Given the description of an element on the screen output the (x, y) to click on. 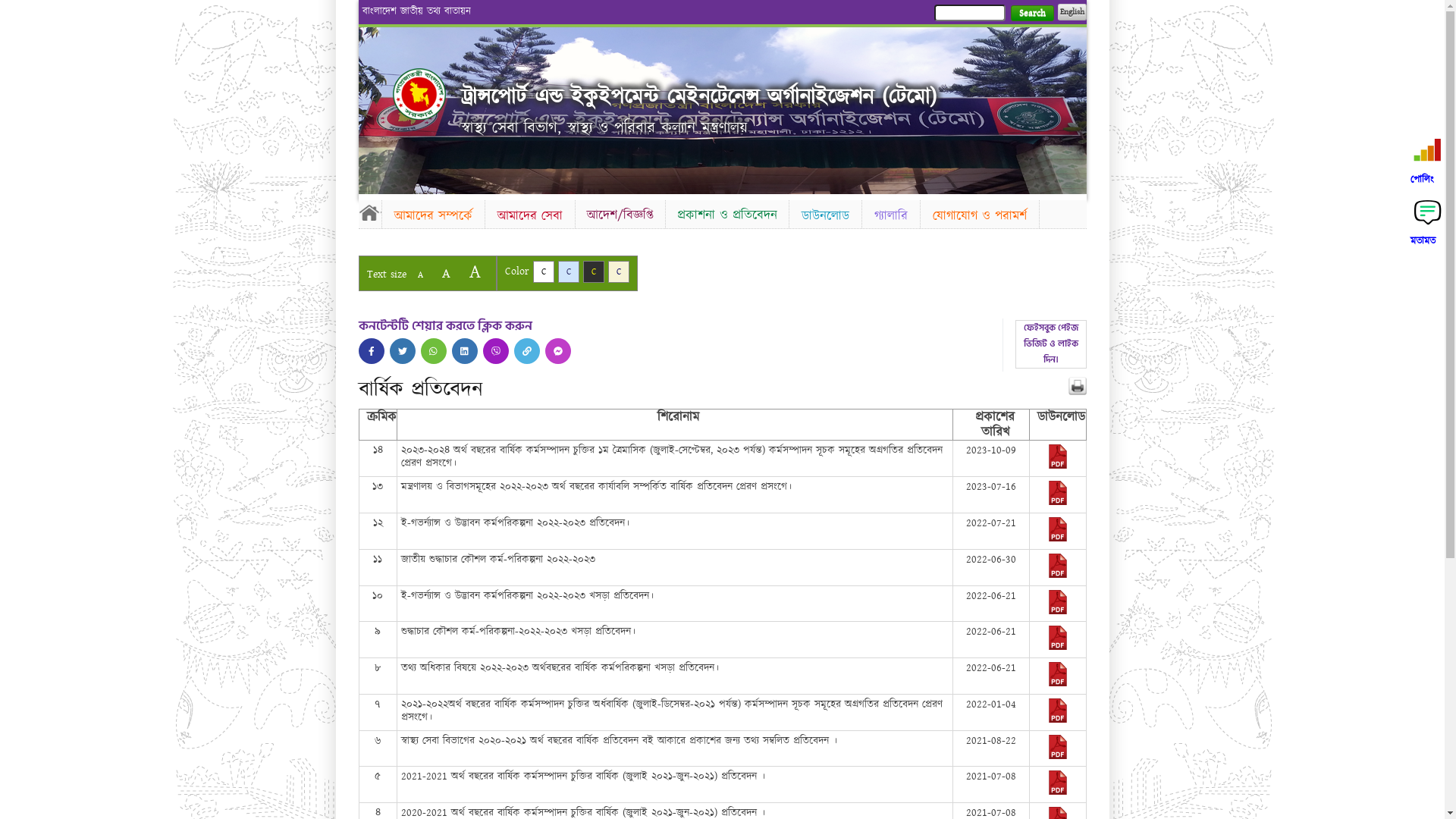
2023-07-16-07-19-ae5793ab0bb5beb9300062891aace4e0.pdf Element type: hover (1057, 501)
2022-07-21-08-25-23b435f93fe3857604c2a3d8ed3ba893.pdf Element type: hover (1057, 538)
2023-11-06-04-56-84c2796c5717a576b3cea10b2c4537ef.pdf Element type: hover (1057, 465)
2022-06-21-07-54-78b5c53154e075d33931ebb3cbf0bb0d.pdf Element type: hover (1057, 682)
Home Element type: hover (368, 211)
2022-06-21-06-51-37e9bf2b8b84f8ec8980d09a34bdb232.pdf Element type: hover (1057, 646)
C Element type: text (568, 271)
2022-02-28-10-22-544a2ce705840496c0f53695093736e1.pdf Element type: hover (1057, 719)
C Element type: text (542, 271)
A Element type: text (419, 274)
2022-06-21-07-33-7d469e1fd9cc334c5be4532ba7c7ef14.pdf Element type: hover (1057, 610)
C Element type: text (592, 271)
C Element type: text (618, 271)
2021-07-08-10-36-38761399aa0b6e137771cf81bf619502.pdf Element type: hover (1057, 791)
English Element type: text (1071, 11)
Home Element type: hover (418, 93)
A Element type: text (474, 271)
Search Element type: text (1031, 13)
A Element type: text (445, 273)
2021-09-13-05-36-d1131c2f9be40c6d736f3866e6b15fde.pdf Element type: hover (1057, 755)
2022-06-30-06-18-74e48fdddcb868f2f2b7b2e0469c4967.pdf Element type: hover (1057, 574)
